Given the description of an element on the screen output the (x, y) to click on. 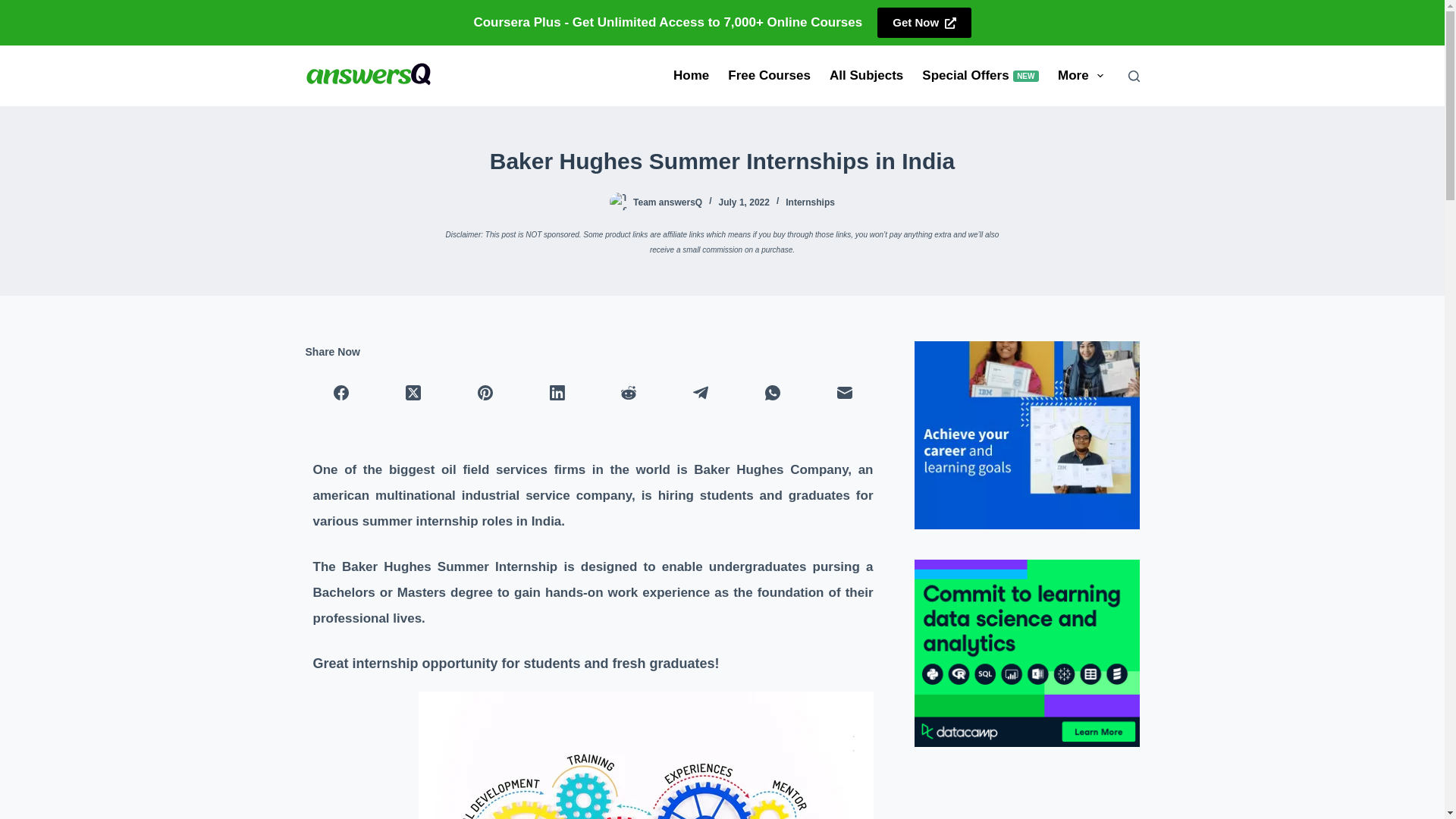
Team answersQ (667, 202)
Free Courses (770, 75)
Home (691, 75)
Baker Hughes Summer Internships in India (722, 161)
More (1080, 75)
Internships (980, 75)
All Subjects (810, 202)
Skip to content (866, 75)
Posts by Team answersQ (15, 7)
Get Now (667, 202)
Advertisement (924, 22)
